Given the description of an element on the screen output the (x, y) to click on. 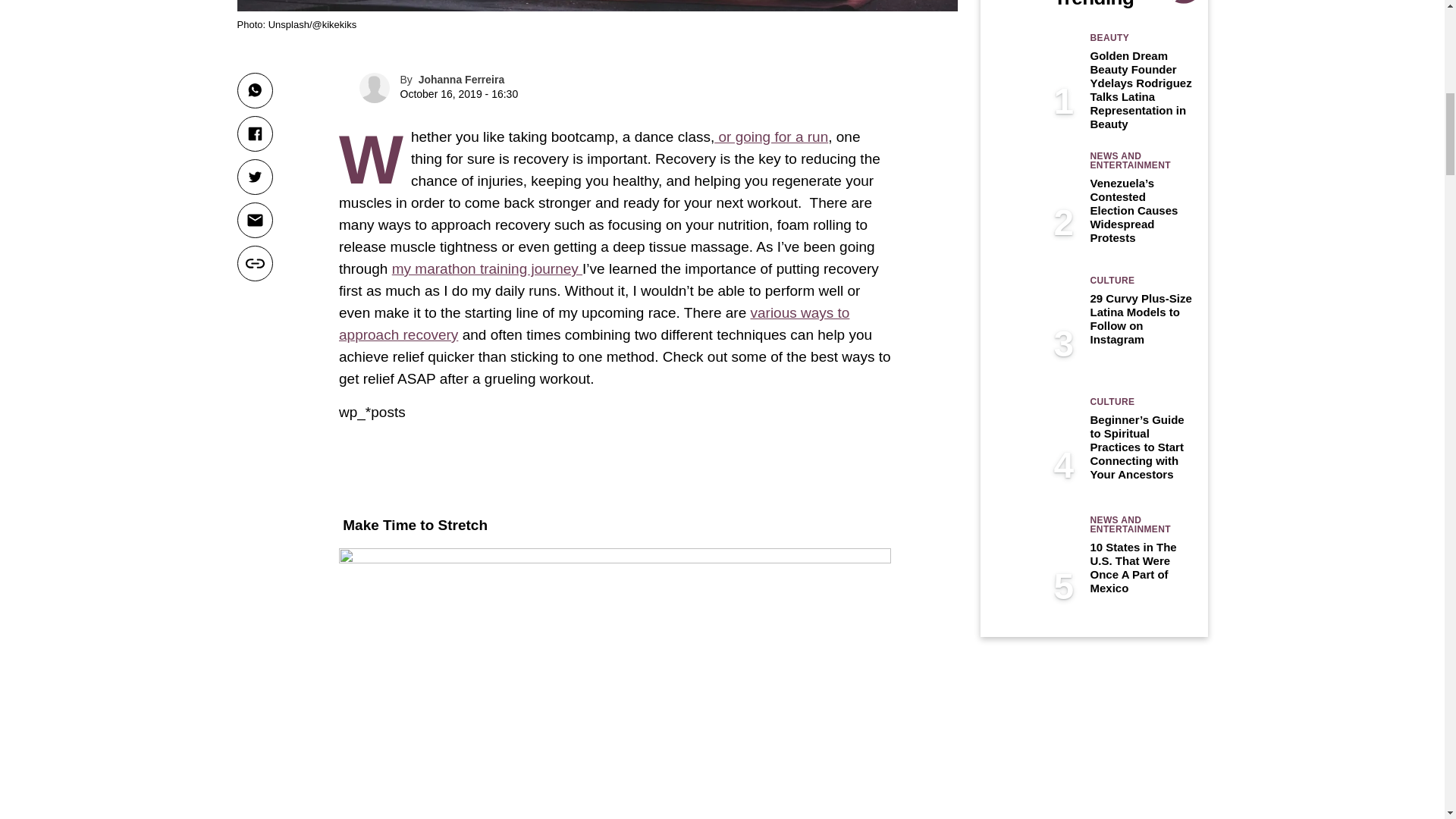
Share this article on Facebook (253, 133)
my marathon training journey (486, 268)
or going for a run (771, 136)
Share this article on WhatsApp (253, 90)
various ways to approach recovery (593, 323)
Johanna Ferreira (462, 79)
Share this article on Twitter (253, 176)
